Given the description of an element on the screen output the (x, y) to click on. 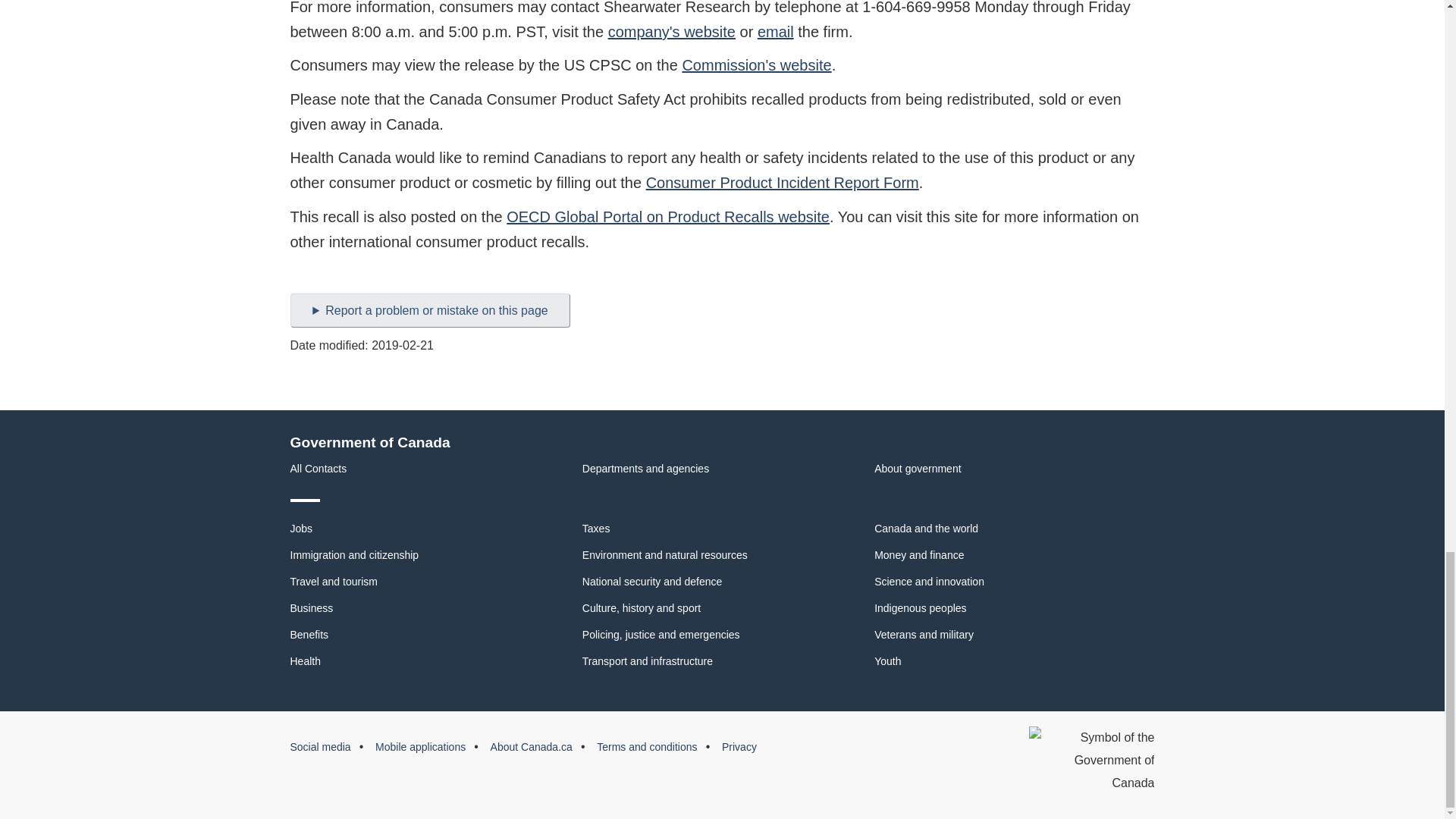
Money and finance (919, 554)
Canada and the world (926, 528)
All Contacts (317, 468)
OECD Global Portal on Product Recalls website (667, 216)
Taxes (596, 528)
email (775, 31)
Benefits (309, 634)
Business (311, 607)
Commission's website (756, 64)
Consumer Product Incident Report Form (782, 182)
